Given the description of an element on the screen output the (x, y) to click on. 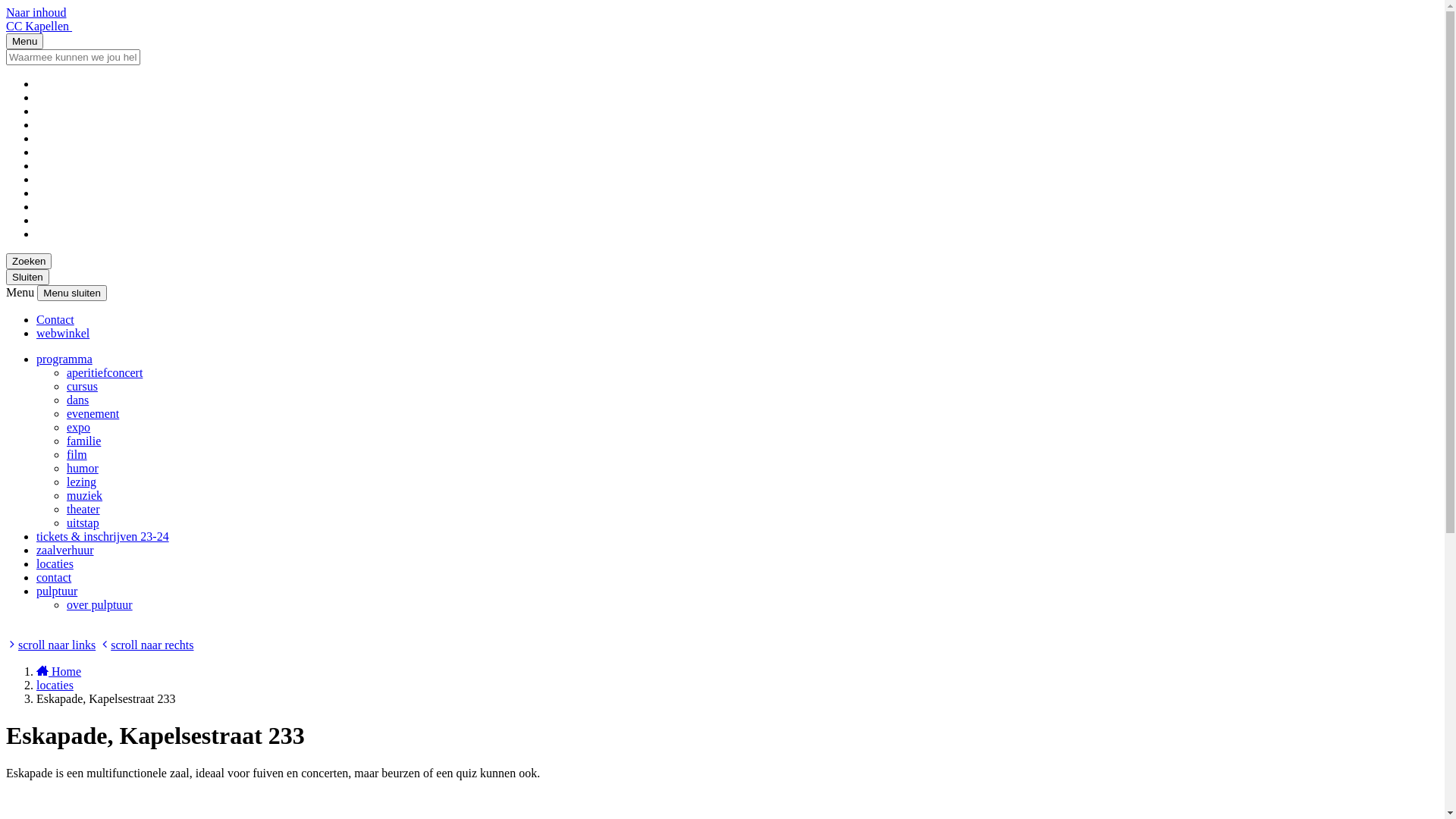
Contact Element type: text (55, 319)
humor Element type: text (82, 467)
aperitiefconcert Element type: text (104, 372)
CC Kapellen Element type: text (39, 25)
evenement Element type: text (92, 413)
lezing Element type: text (81, 481)
locaties Element type: text (54, 684)
programma Element type: text (64, 358)
webwinkel Element type: text (62, 332)
Menu sluiten Element type: text (71, 293)
cursus Element type: text (81, 385)
familie Element type: text (83, 440)
locaties Element type: text (54, 563)
muziek Element type: text (84, 495)
film Element type: text (76, 454)
over pulptuur Element type: text (99, 604)
Sluiten Element type: text (27, 277)
Menu Element type: text (24, 41)
pulptuur Element type: text (56, 590)
zaalverhuur Element type: text (65, 549)
Zoeken Element type: text (28, 261)
uitstap Element type: text (82, 522)
scroll naar links Element type: text (50, 644)
tickets & inschrijven 23-24 Element type: text (102, 536)
Home Element type: text (58, 671)
theater Element type: text (83, 508)
contact Element type: text (53, 577)
Naar inhoud Element type: text (36, 12)
scroll naar rechts Element type: text (145, 644)
dans Element type: text (77, 399)
expo Element type: text (78, 426)
Waarmee kunnen we jou helpen? Element type: hover (73, 57)
